Given the description of an element on the screen output the (x, y) to click on. 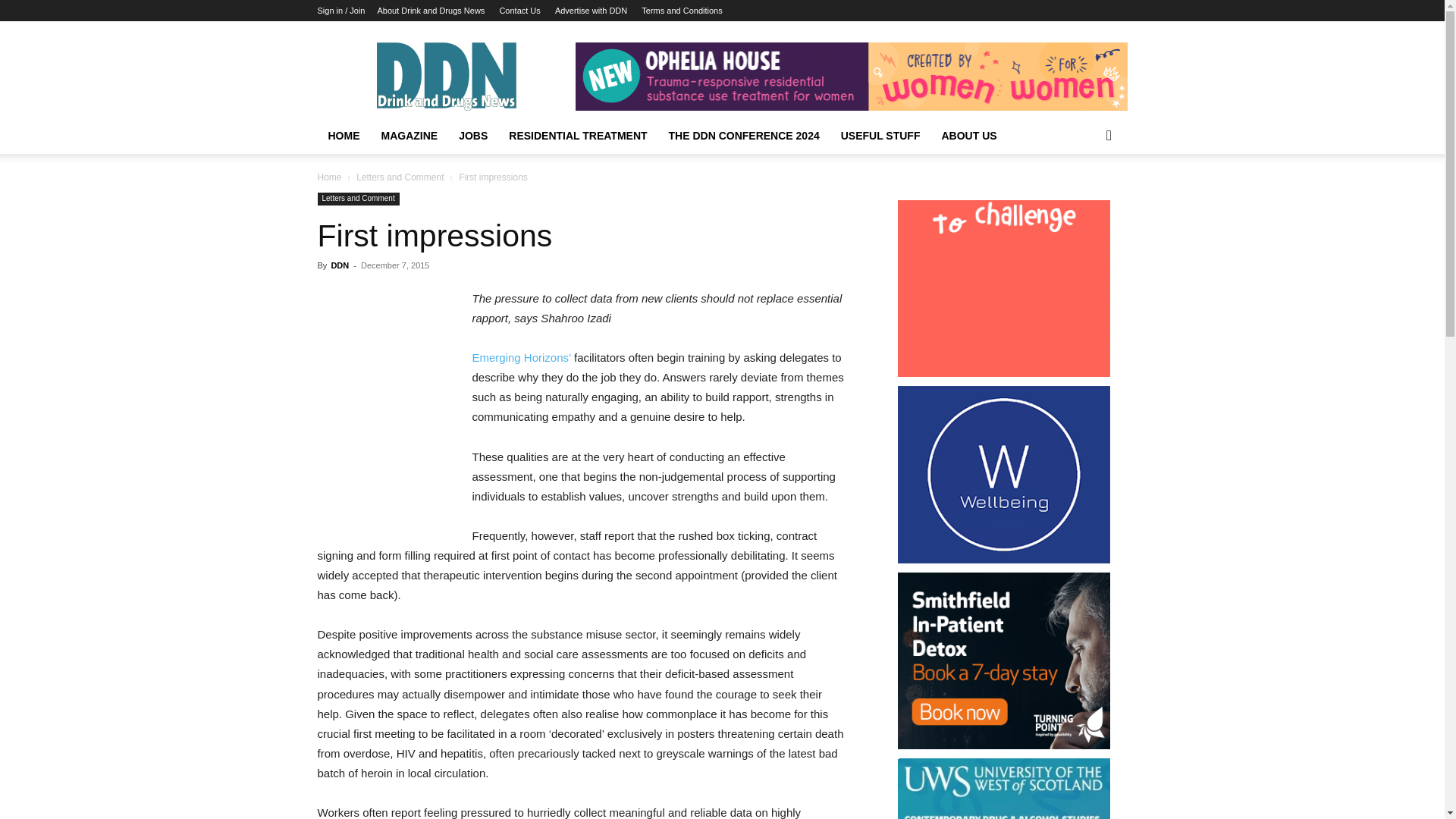
About Drink and Drugs News (430, 10)
View all posts in Letters and Comment (400, 176)
Contact Us (519, 10)
